Given the description of an element on the screen output the (x, y) to click on. 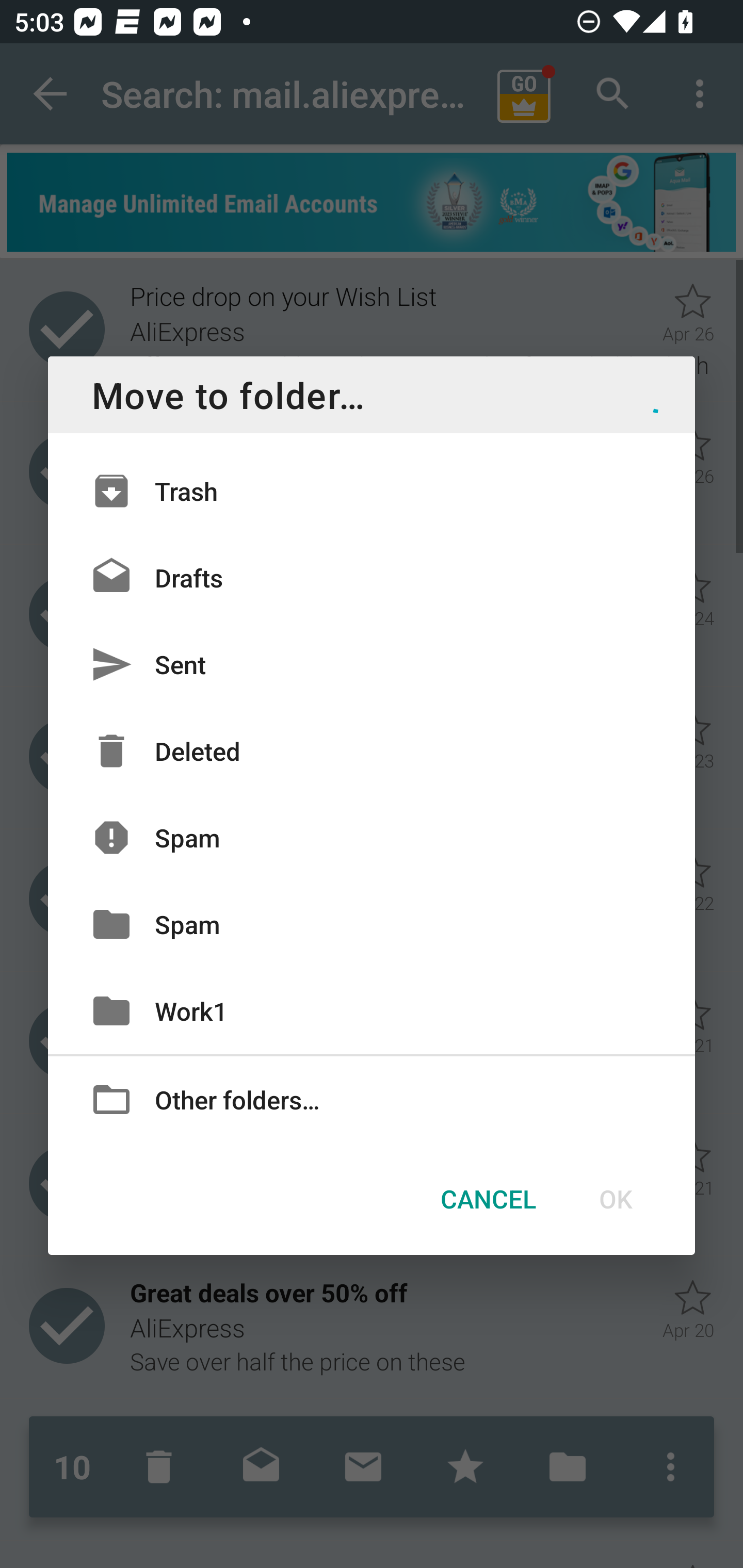
Trash (371, 491)
Drafts (371, 577)
Sent (371, 663)
Deleted (371, 750)
Spam (371, 837)
Spam (371, 924)
Work1 (371, 1010)
Other folders… (371, 1098)
CANCEL (488, 1199)
OK (615, 1199)
